Given the description of an element on the screen output the (x, y) to click on. 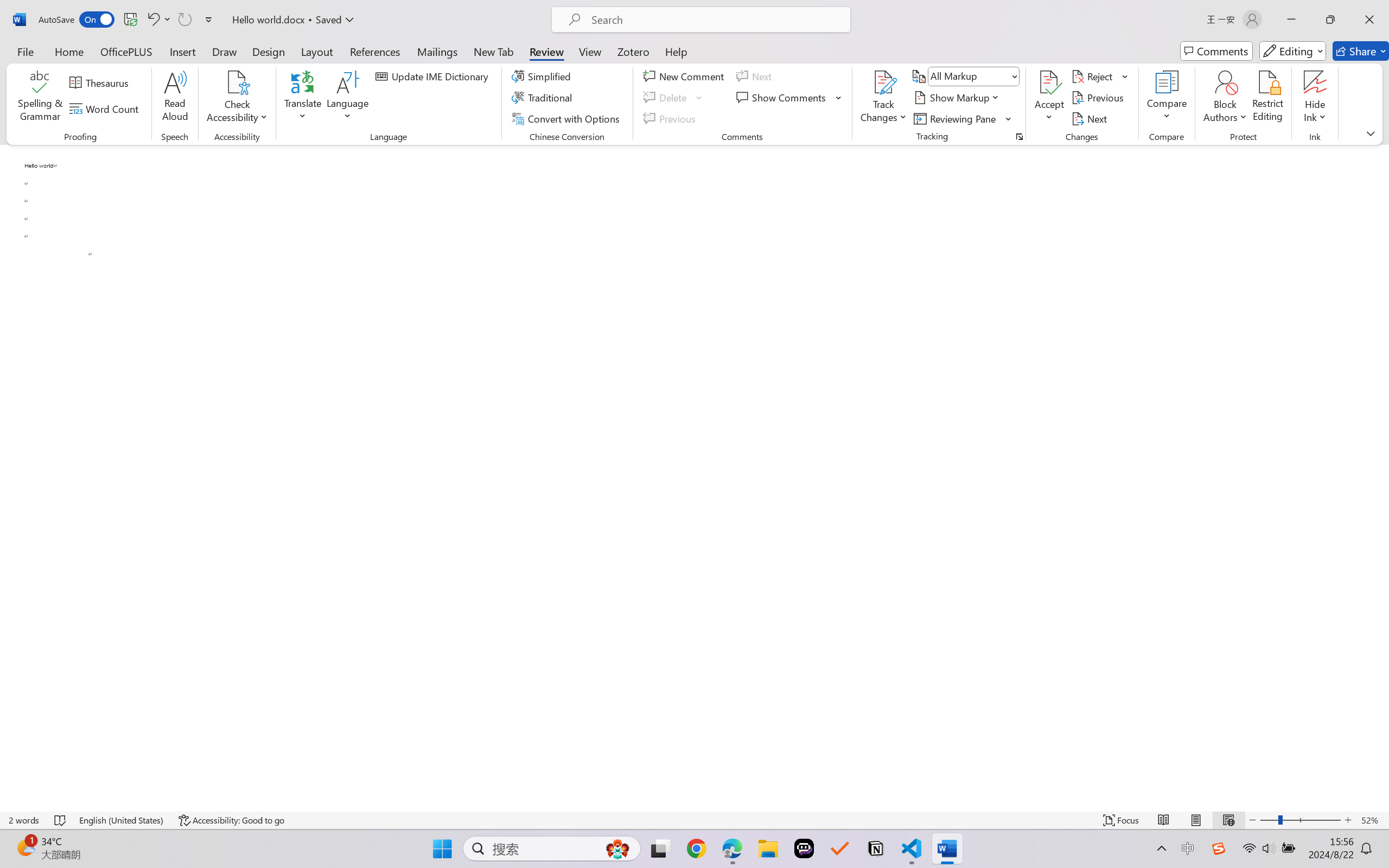
Read Aloud (174, 97)
New Tab (493, 51)
Design (268, 51)
Draw (224, 51)
Change Tracking Options... (1019, 136)
Focus  (1121, 819)
Home (69, 51)
Web Layout (1228, 819)
Block Authors (1224, 97)
Read Mode (1163, 819)
Check Accessibility (237, 97)
Minimize (1291, 19)
Comments (1216, 50)
Traditional (543, 97)
Spelling & Grammar (39, 97)
